Given the description of an element on the screen output the (x, y) to click on. 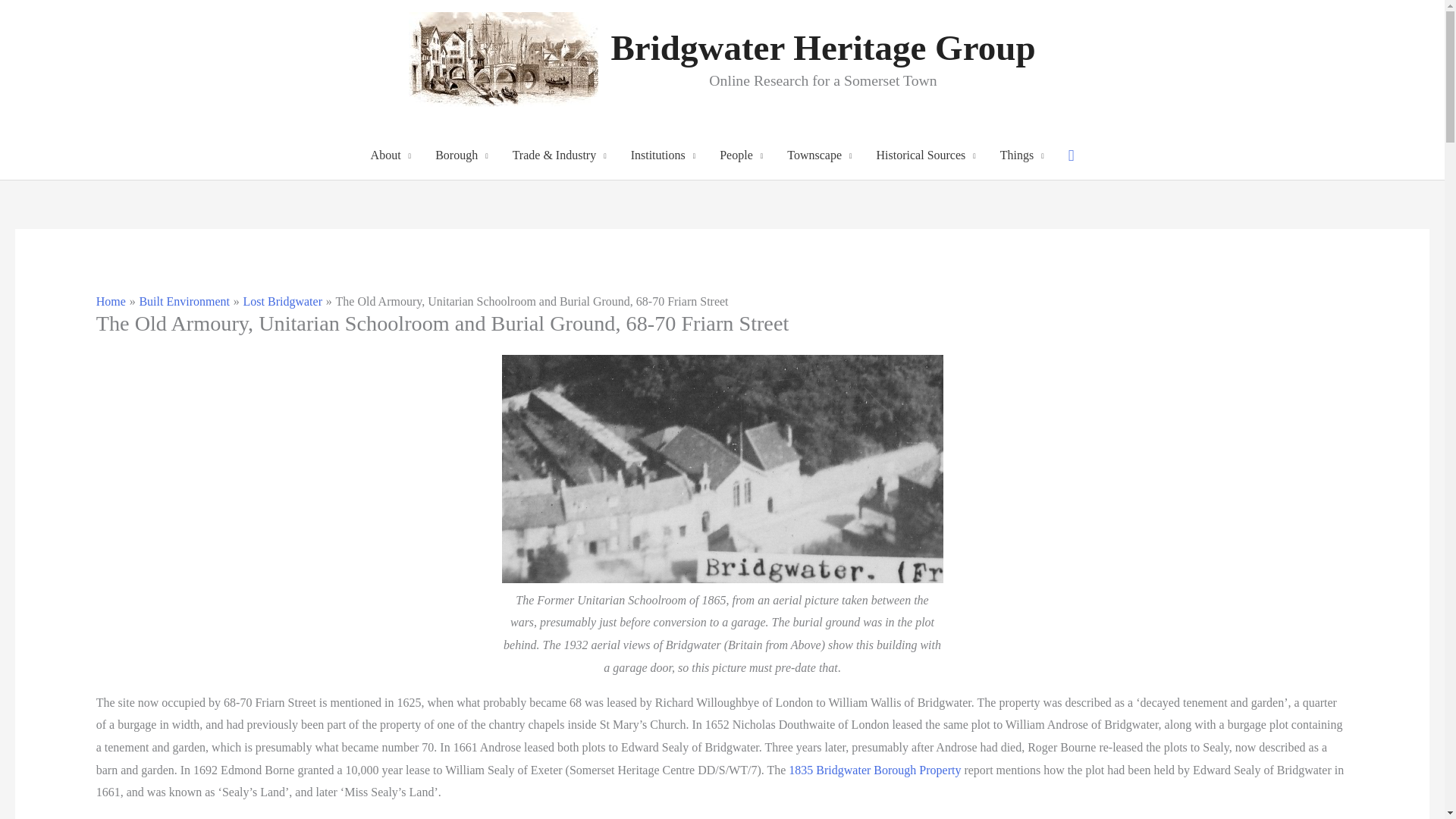
About (390, 155)
Borough (461, 155)
People (740, 155)
Bridgwater Heritage Group (822, 47)
Institutions (662, 155)
